Given the description of an element on the screen output the (x, y) to click on. 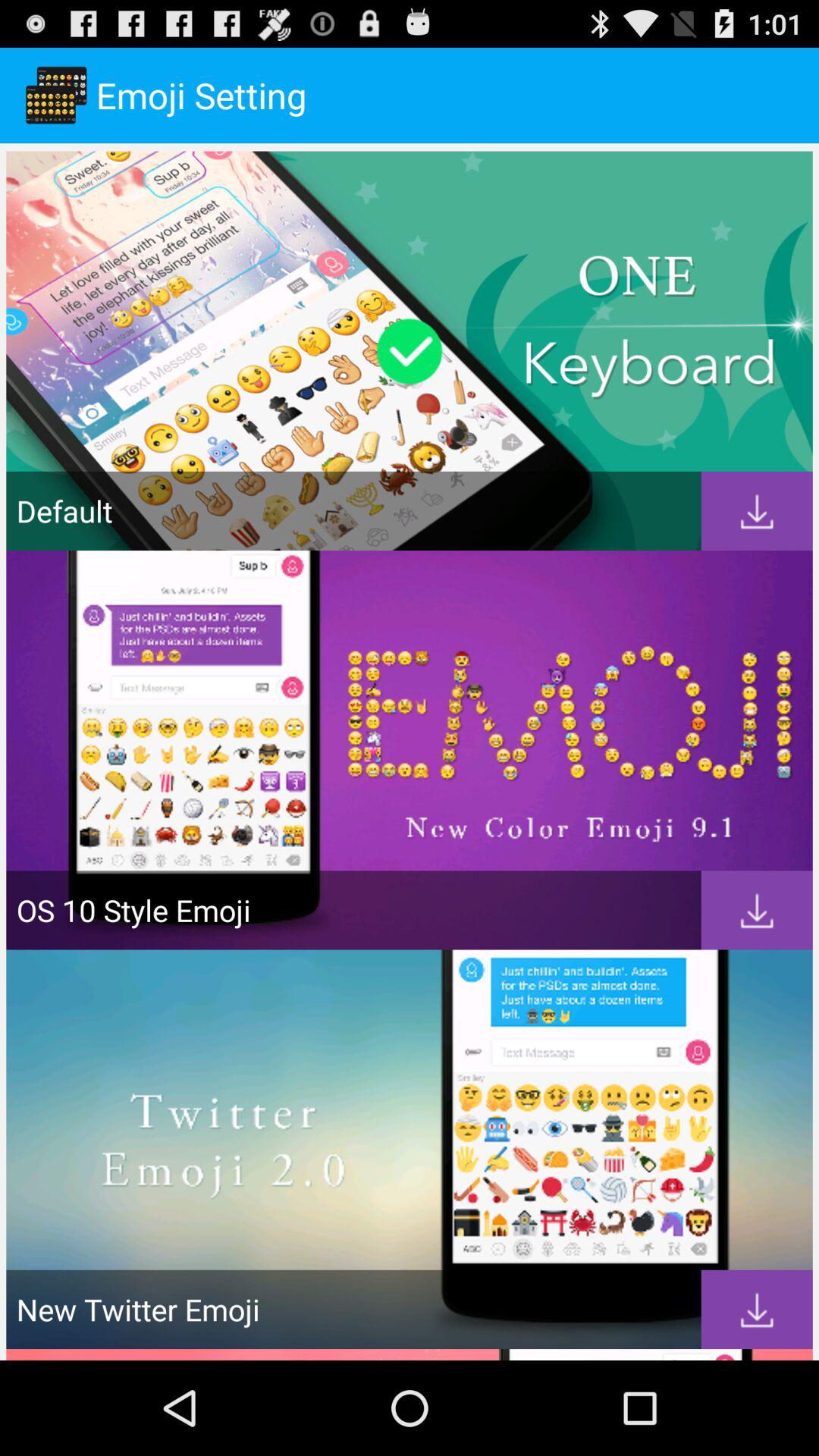
scrolls down page (756, 910)
